Given the description of an element on the screen output the (x, y) to click on. 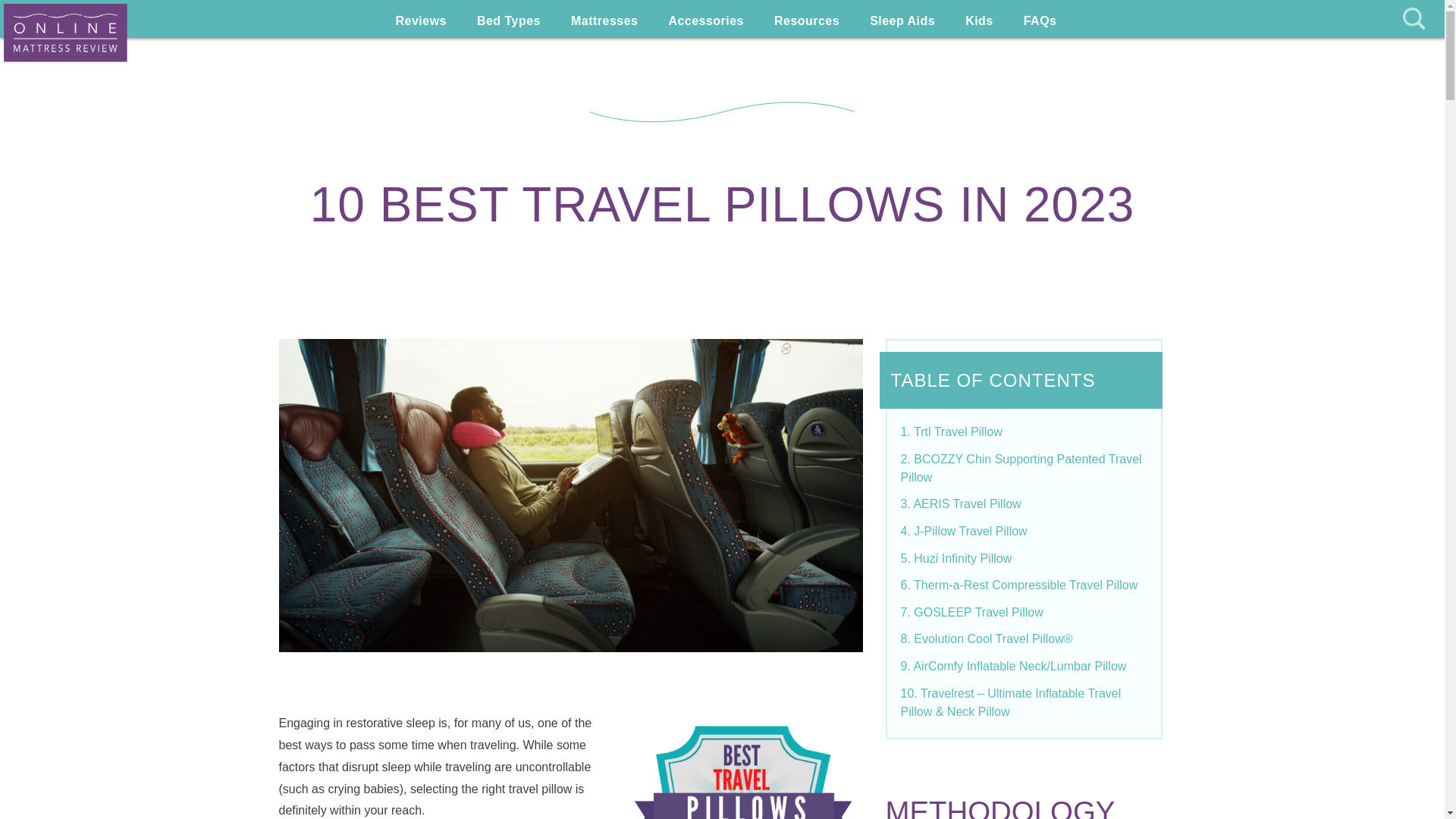
Online Mattress Review (66, 33)
Resources (806, 19)
Bed Types (508, 19)
Accessories (705, 19)
Sleep Aids (902, 19)
Reviews (420, 19)
Mattresses (604, 19)
FAQs (1040, 19)
Kids (979, 19)
